Given the description of an element on the screen output the (x, y) to click on. 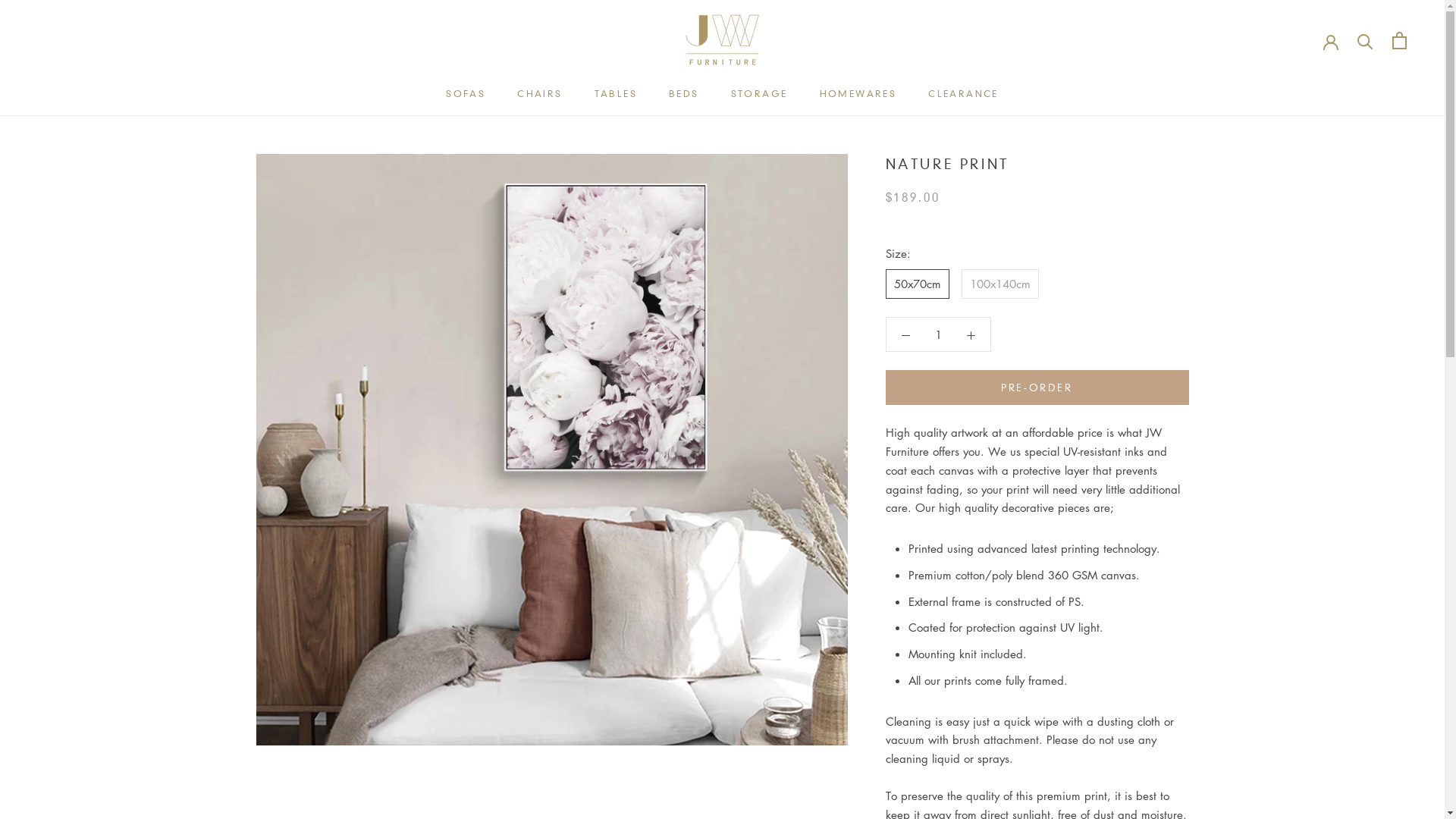
STORAGE Element type: text (759, 93)
SOFAS
SOFAS Element type: text (465, 93)
BEDS Element type: text (683, 93)
TABLES Element type: text (615, 93)
HOMEWARES Element type: text (857, 93)
PRE-ORDER Element type: text (1037, 387)
CHAIRS Element type: text (539, 93)
CLEARANCE
CLEARANCE Element type: text (963, 93)
